Given the description of an element on the screen output the (x, y) to click on. 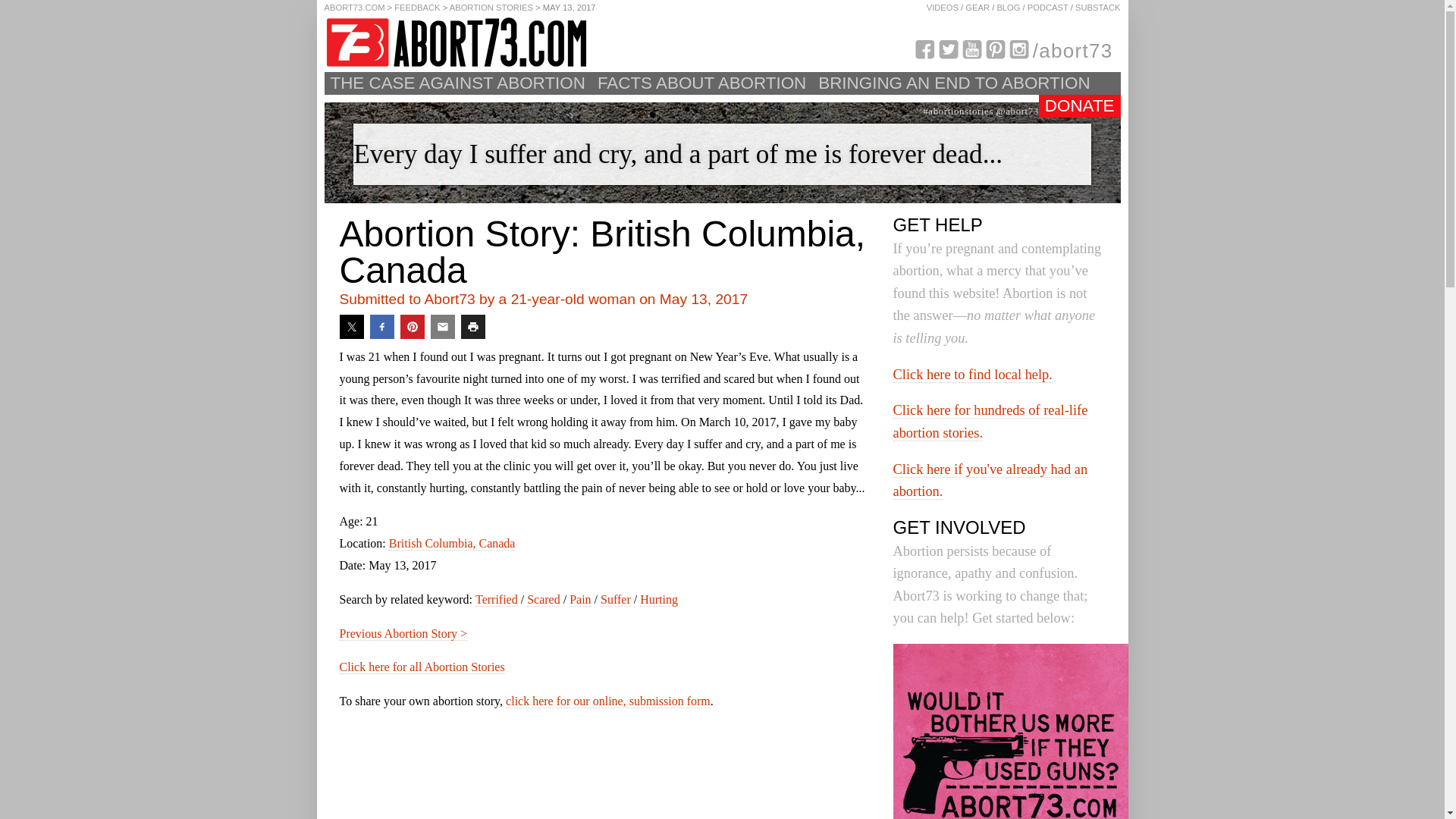
SUBSTACK (1097, 7)
VIDEOS (942, 7)
FEEDBACK (416, 7)
GEAR (977, 7)
ABORTION STORIES (490, 7)
FACTS ABOUT ABORTION (701, 83)
BLOG (1007, 7)
ABORT73.COM (354, 7)
THE CASE AGAINST ABORTION (457, 83)
PODCAST (1047, 7)
